Given the description of an element on the screen output the (x, y) to click on. 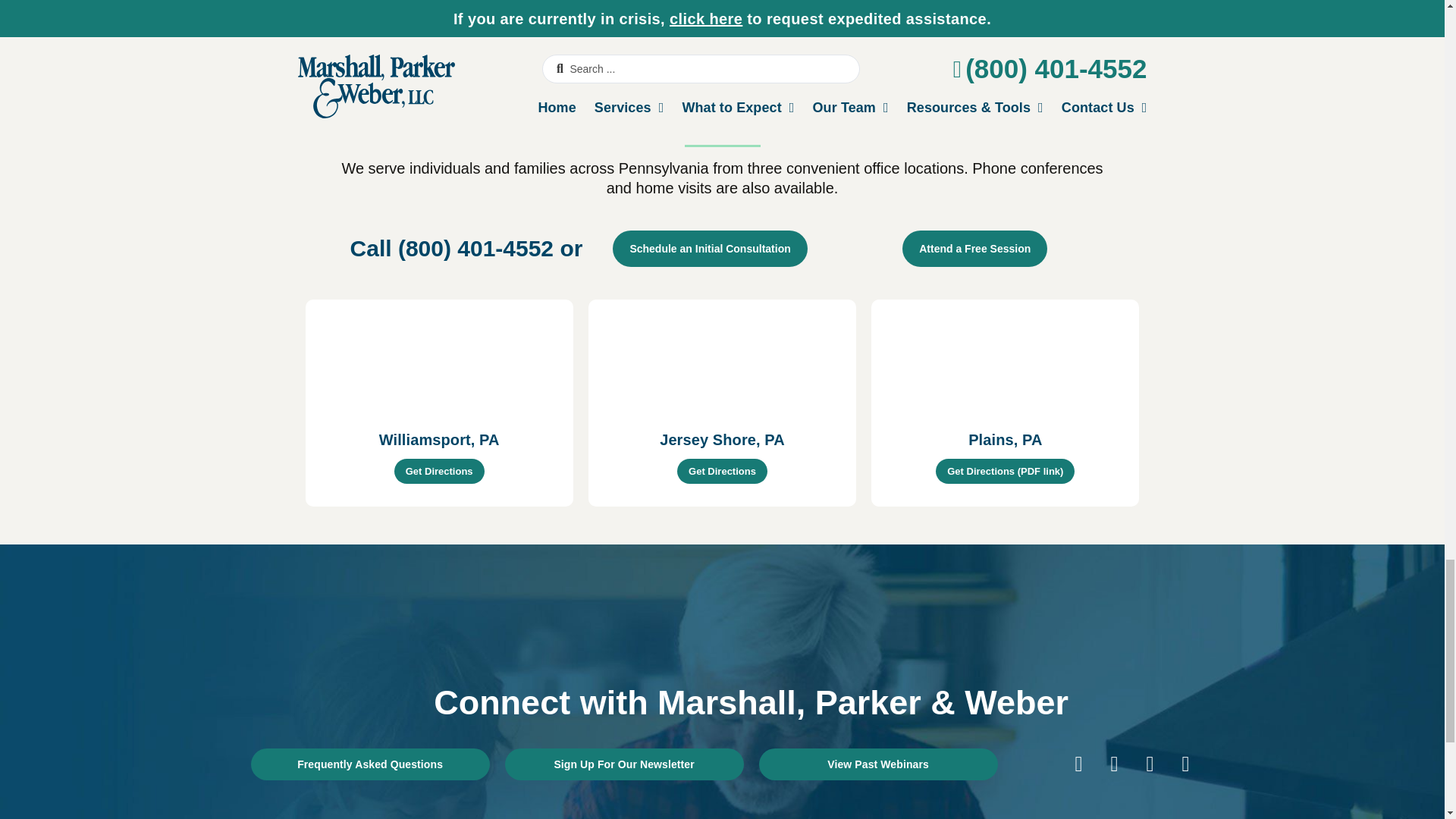
672 S River Street Plains, PA 18705 (1004, 356)
928 Allegheny St, Jersey Shore, PA 17740 (722, 356)
49 E 4th St, Williamsport, PA 17701 (438, 356)
